Given the description of an element on the screen output the (x, y) to click on. 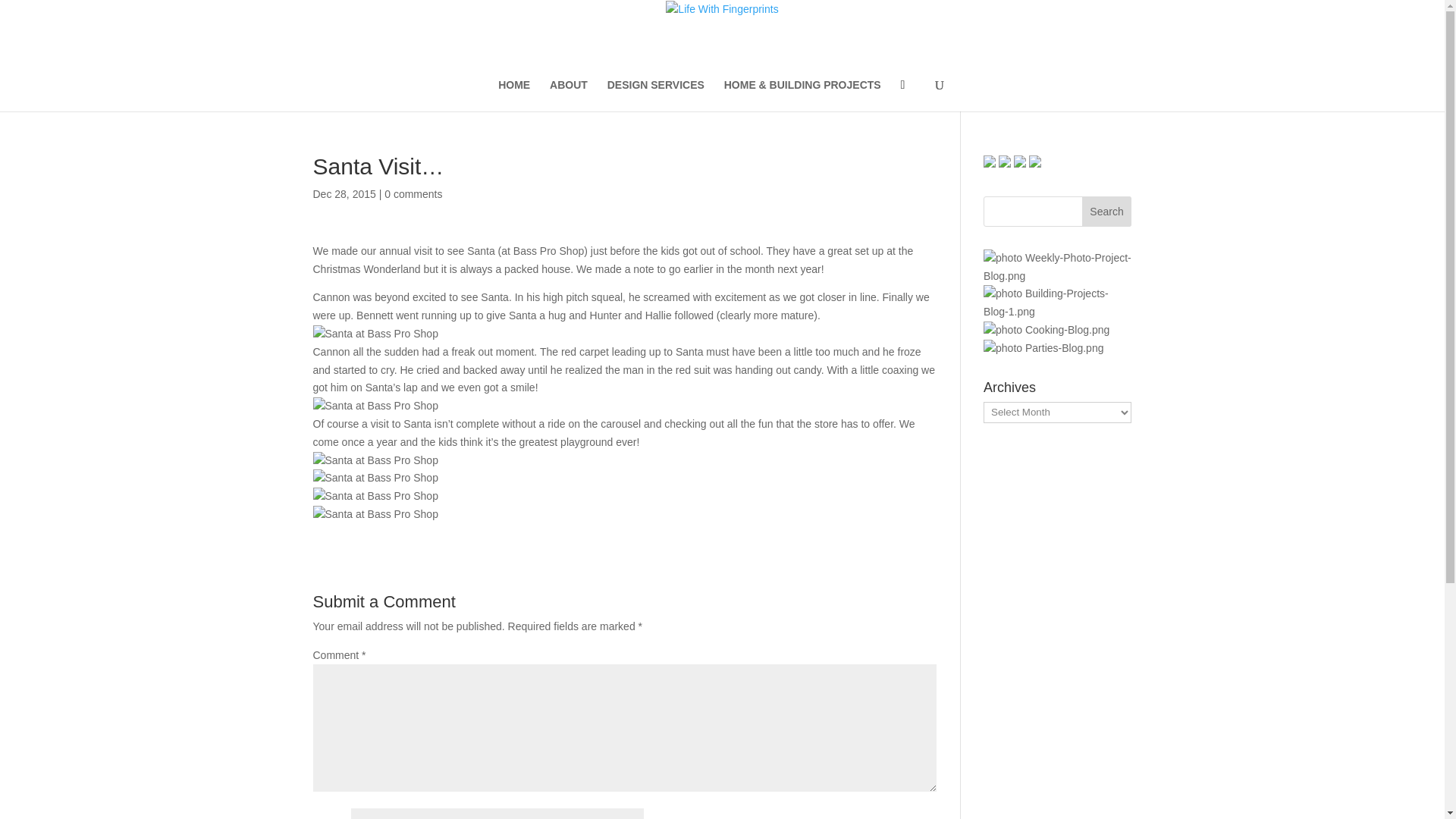
0 comments (413, 193)
Search (1106, 211)
Search (1106, 211)
DESIGN SERVICES (655, 95)
HOME (513, 95)
ABOUT (569, 95)
